Given the description of an element on the screen output the (x, y) to click on. 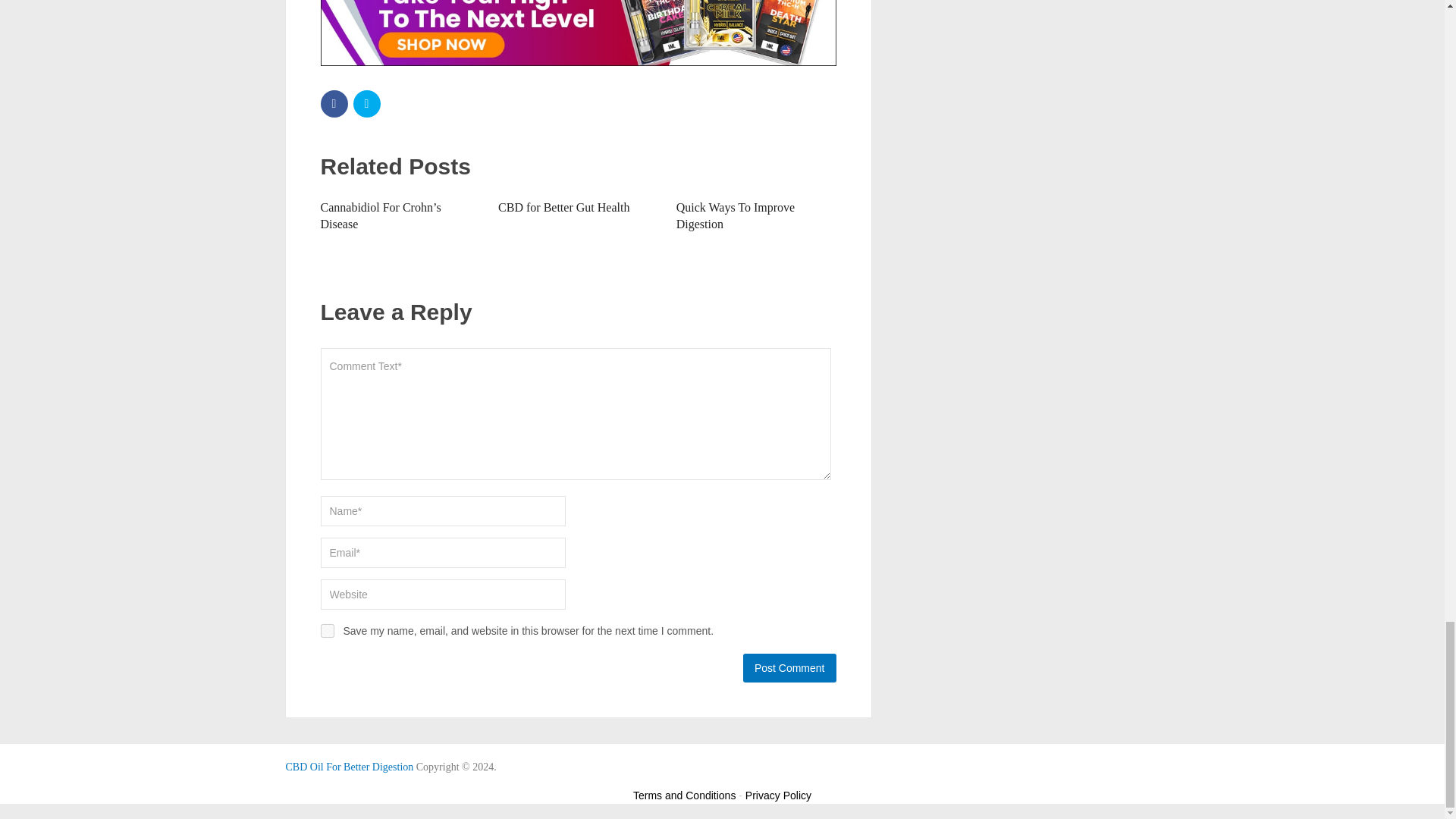
Post Comment (788, 667)
Post Comment (788, 667)
Quick Ways To Improve Digestion (735, 215)
Quick Ways To Improve Digestion (735, 215)
yes (326, 631)
CBD for Better Gut Health (562, 206)
CBD for Better Gut Health (562, 206)
